Given the description of an element on the screen output the (x, y) to click on. 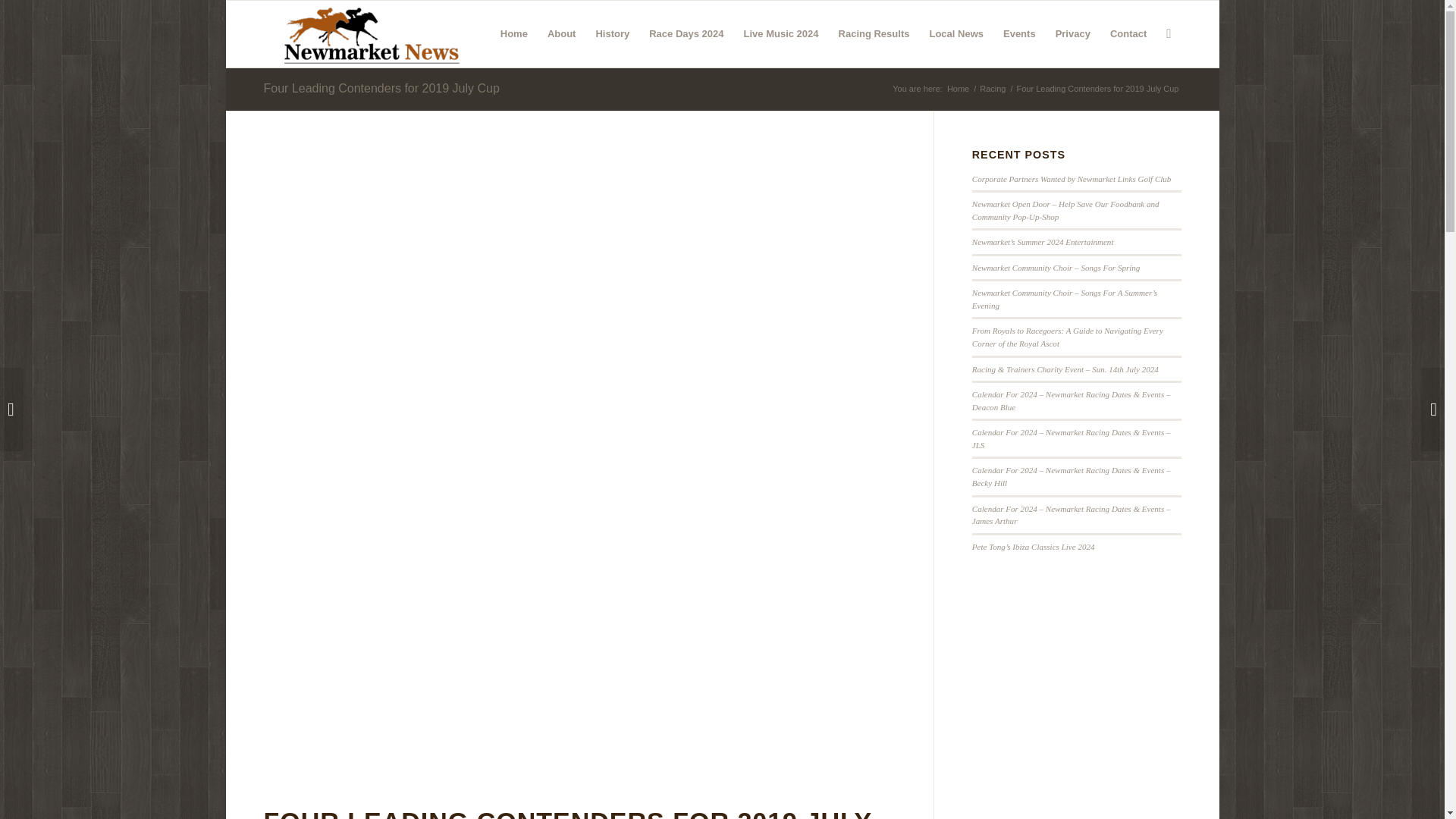
Race Days 2024 (686, 33)
Permanent Link: Four Leading Contenders for 2019 July Cup (381, 88)
Live Music 2024 (780, 33)
